Given the description of an element on the screen output the (x, y) to click on. 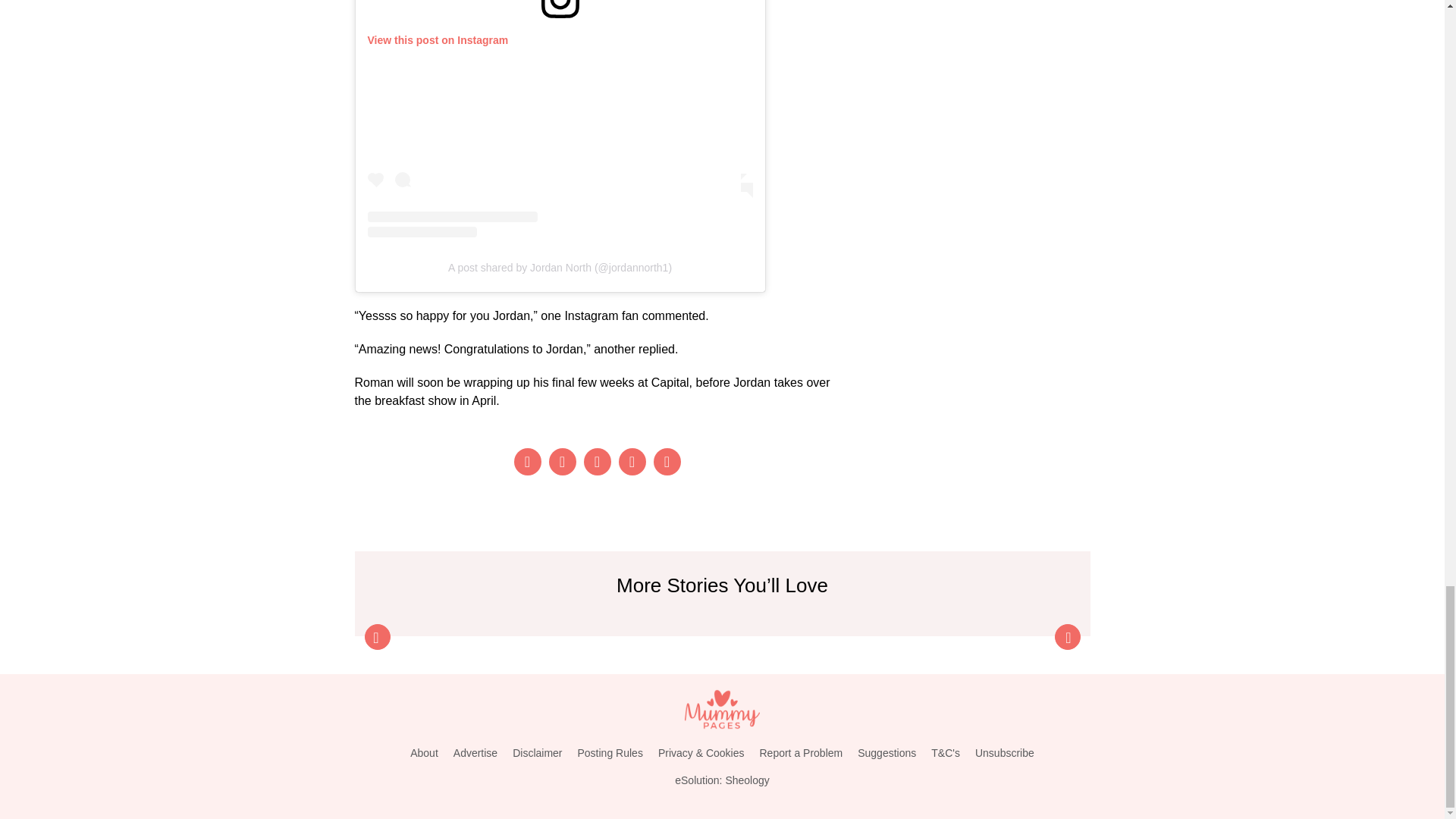
Posting Rules (610, 753)
Disclaimer (537, 753)
About (424, 753)
Unsubscribe (1005, 753)
Sheology (746, 779)
Suggestions (886, 753)
Report a Problem (800, 753)
Email (667, 461)
Advertise (475, 753)
